Given the description of an element on the screen output the (x, y) to click on. 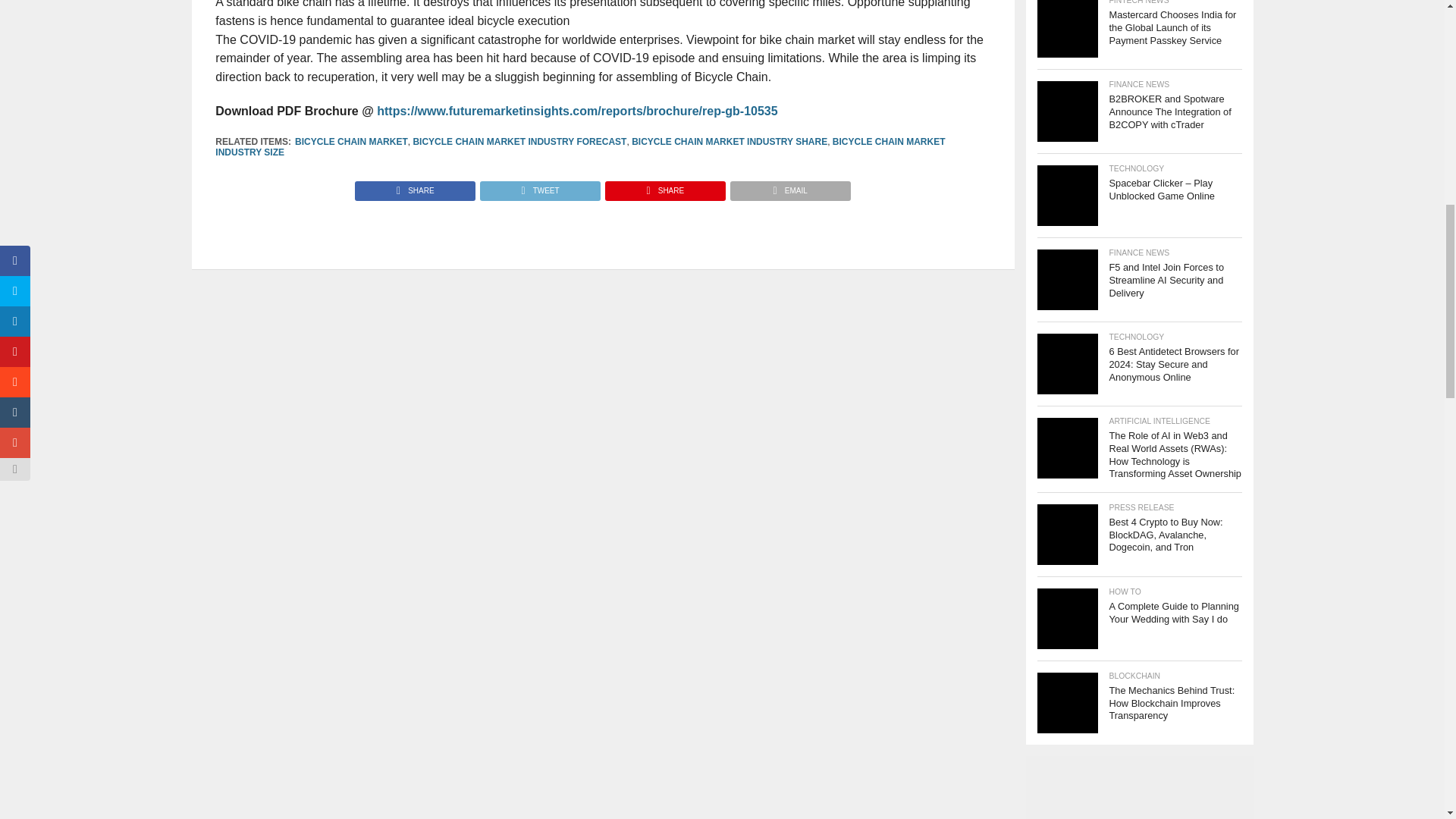
Share on Facebook (415, 186)
Pin This Post (664, 186)
Tweet This Post (539, 186)
